Given the description of an element on the screen output the (x, y) to click on. 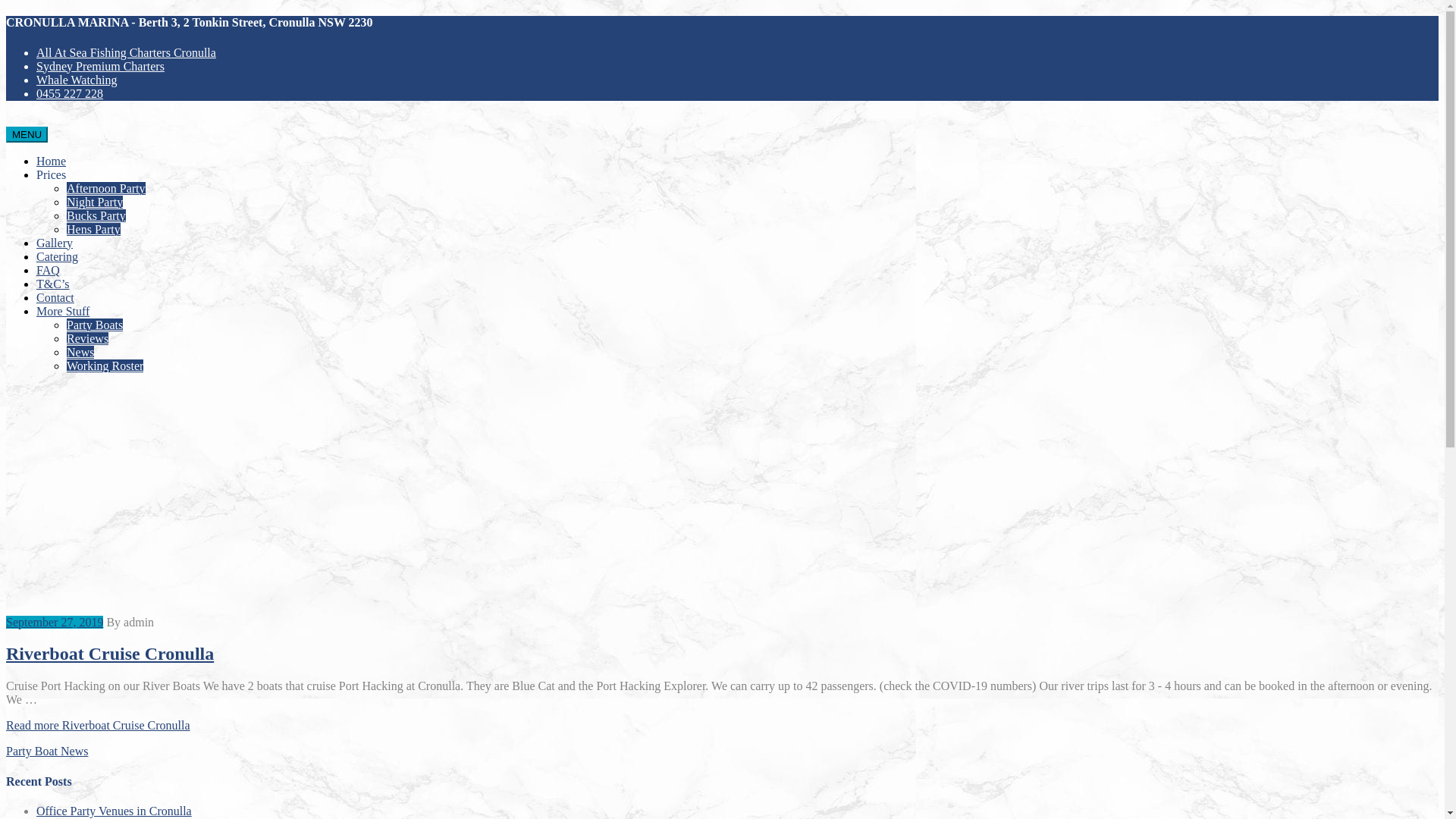
Reviews Element type: text (87, 338)
More Stuff Element type: text (62, 310)
Party Boats Element type: text (94, 324)
News Element type: text (80, 351)
Contact Element type: text (55, 297)
Working Roster Element type: text (104, 365)
Night Party Element type: text (94, 201)
Read more Riverboat Cruise Cronulla Element type: text (98, 724)
Gallery Element type: text (54, 242)
September 27, 2019 Element type: text (54, 621)
Home Element type: text (50, 160)
Hens Party Element type: text (93, 228)
Riverboat Cruise Cronulla Element type: text (109, 653)
0455 227 228 Element type: text (69, 93)
Afternoon Party Element type: text (105, 188)
MENU Element type: text (26, 134)
Bucks Party Element type: text (95, 215)
Prices Element type: text (50, 174)
Party Boat News Element type: text (46, 750)
Sydney Premium Charters Element type: text (100, 65)
Office Party Venues in Cronulla Element type: text (113, 810)
Catering Element type: text (57, 256)
FAQ Element type: text (47, 269)
All At Sea Fishing Charters Cronulla Element type: text (126, 52)
Whale Watching Element type: text (76, 79)
